Given the description of an element on the screen output the (x, y) to click on. 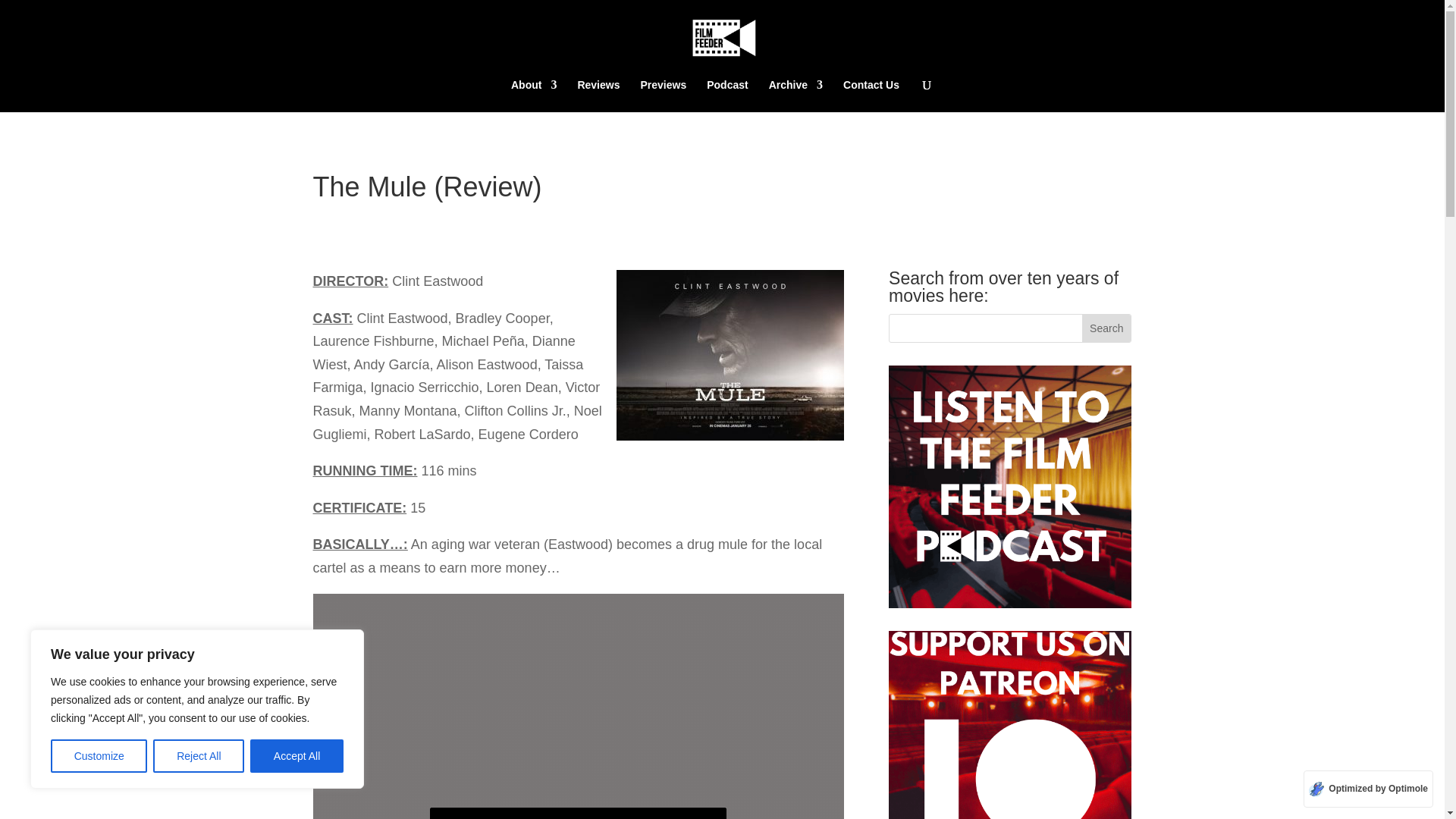
Reject All (198, 756)
Search (1106, 328)
Search (1106, 328)
Customize (98, 756)
SITE-AD-FOR-FILM-FEEDER-PODCAST-768x768 (1009, 486)
Contact Us (871, 95)
Archive (795, 95)
About (533, 95)
Podcast (727, 95)
SUPPORT US ON PATREON (1009, 724)
Accept All (296, 756)
Reviews (598, 95)
Previews (662, 95)
Search (1106, 328)
